Given the description of an element on the screen output the (x, y) to click on. 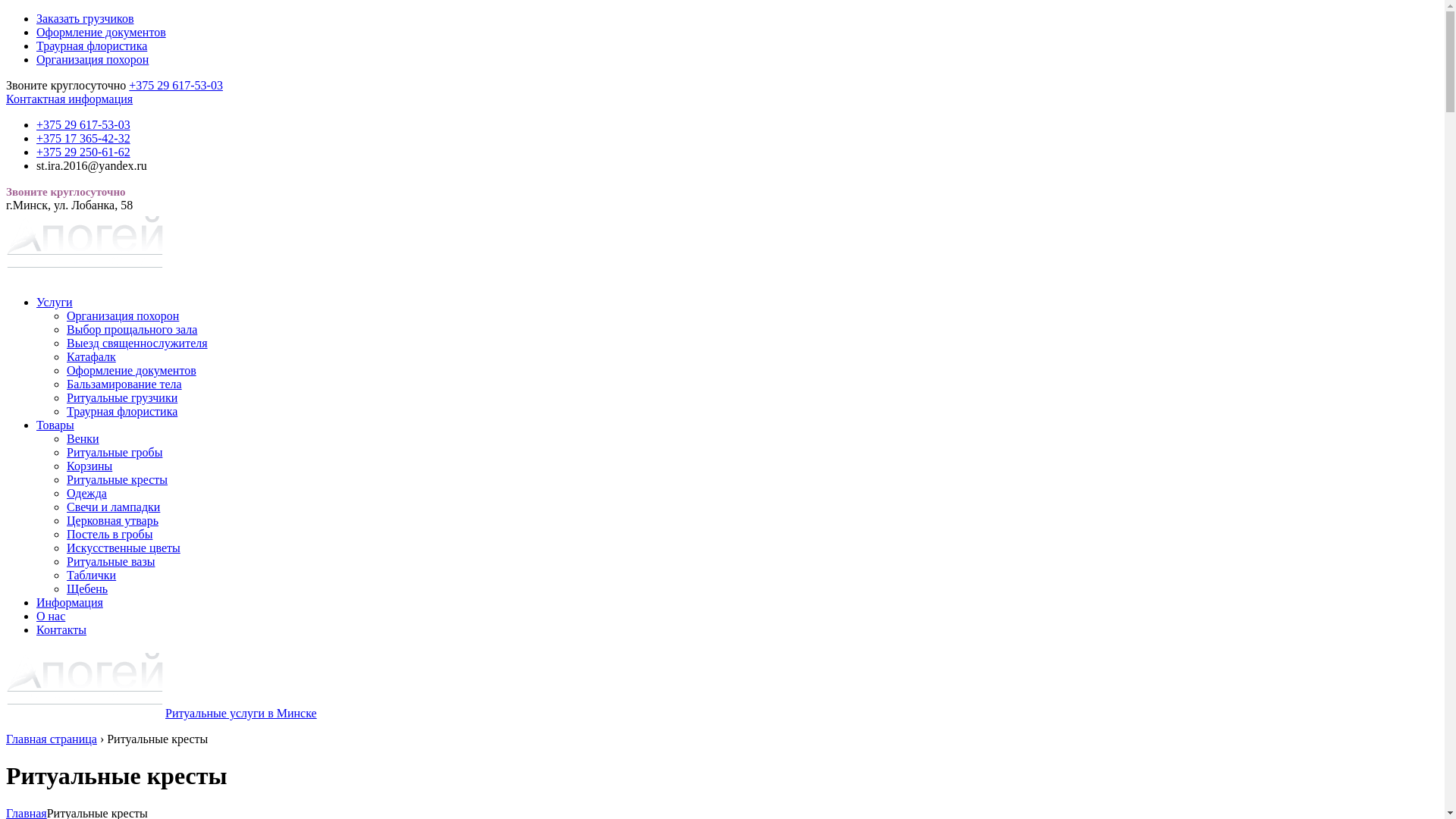
+375 29 250-61-62 Element type: text (83, 151)
+375 29 617-53-03 Element type: text (175, 84)
+375 17 365-42-32 Element type: text (83, 137)
+375 29 617-53-03 Element type: text (83, 124)
